Given the description of an element on the screen output the (x, y) to click on. 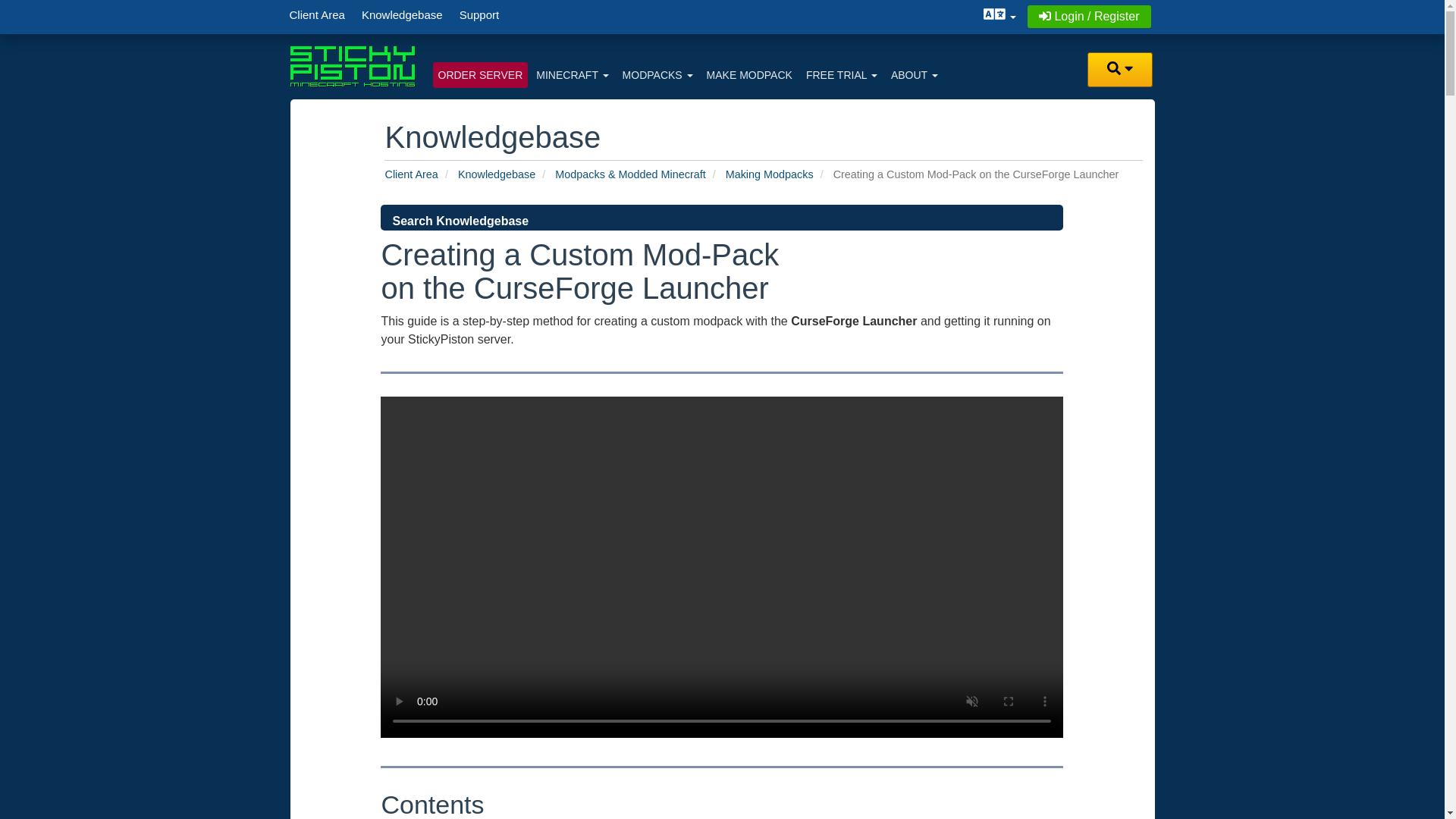
StickyPiston Minecraft Modpack Server Hosting (351, 65)
Knowledgebase (402, 14)
Support (479, 14)
MINECRAFT (571, 74)
Free 24hr Server Trial (841, 74)
Minecraft Hosting (571, 74)
Host Minecraft Server Now (479, 74)
ORDER SERVER (479, 74)
Make a Modded Minecraft Server  (749, 74)
Client Area (316, 14)
